Given the description of an element on the screen output the (x, y) to click on. 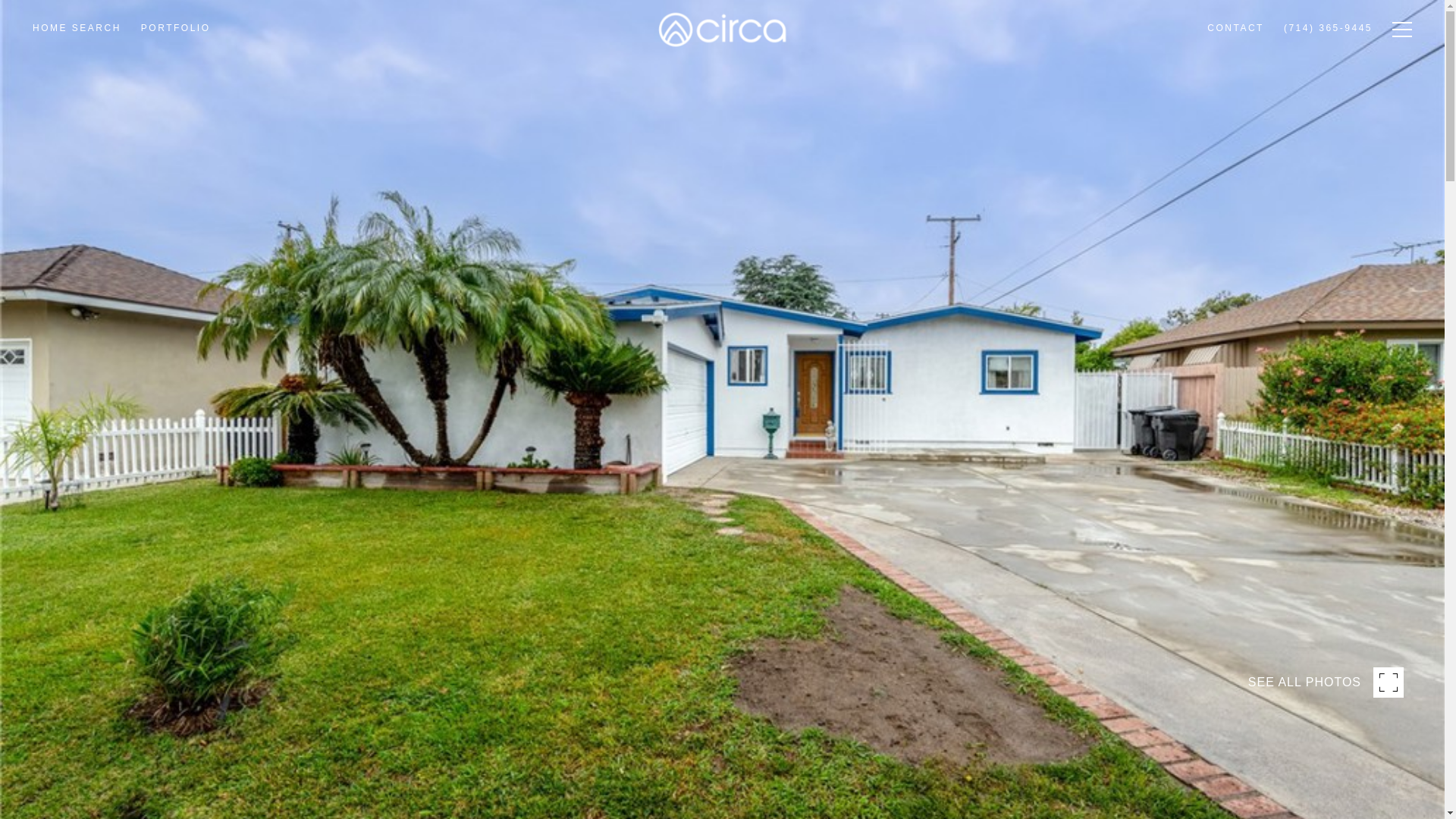
PORTFOLIO (176, 68)
CONTACT (1235, 58)
HOME SEARCH (77, 69)
